Given the description of an element on the screen output the (x, y) to click on. 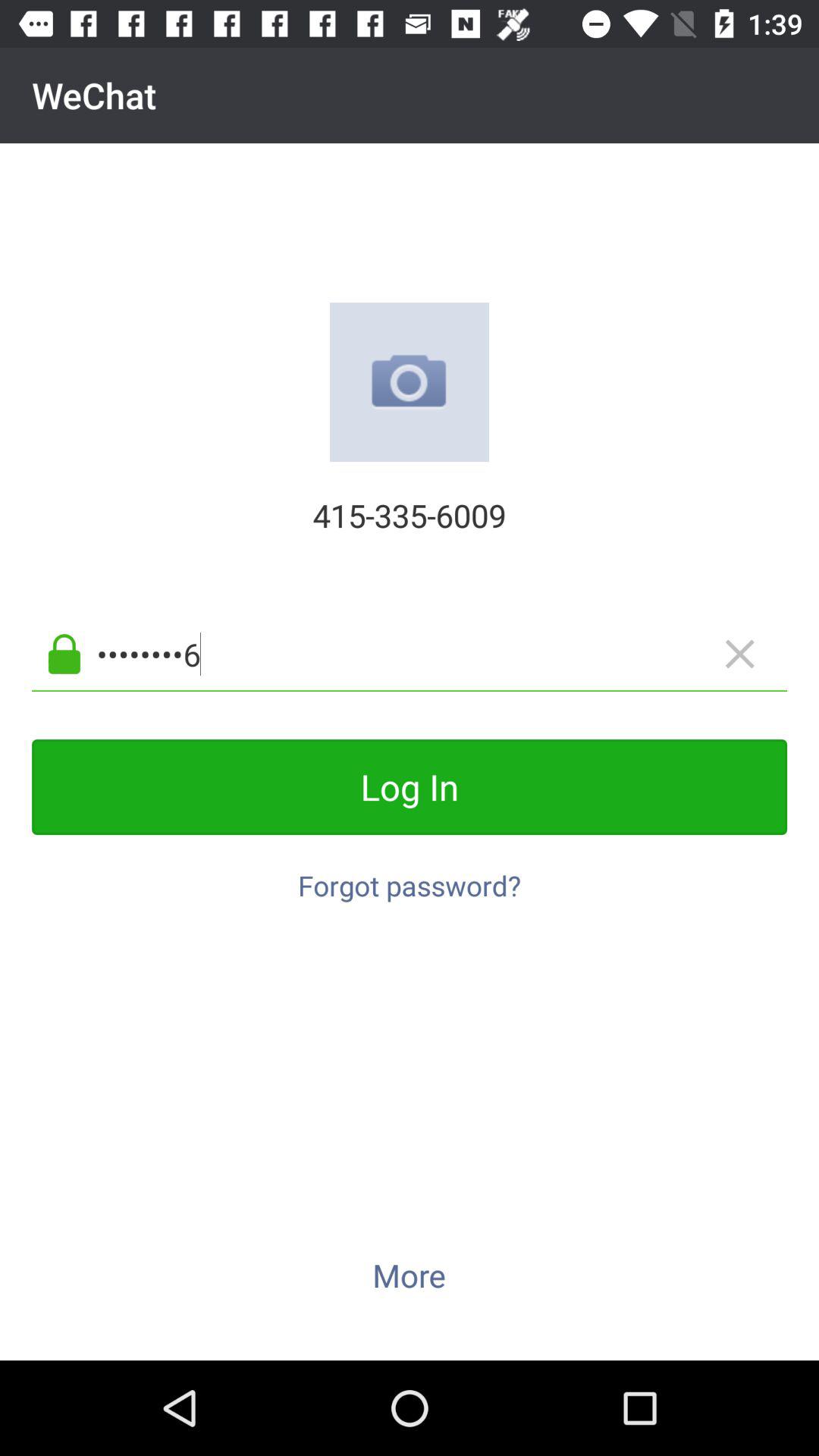
swipe to the forgot password? item (409, 877)
